Given the description of an element on the screen output the (x, y) to click on. 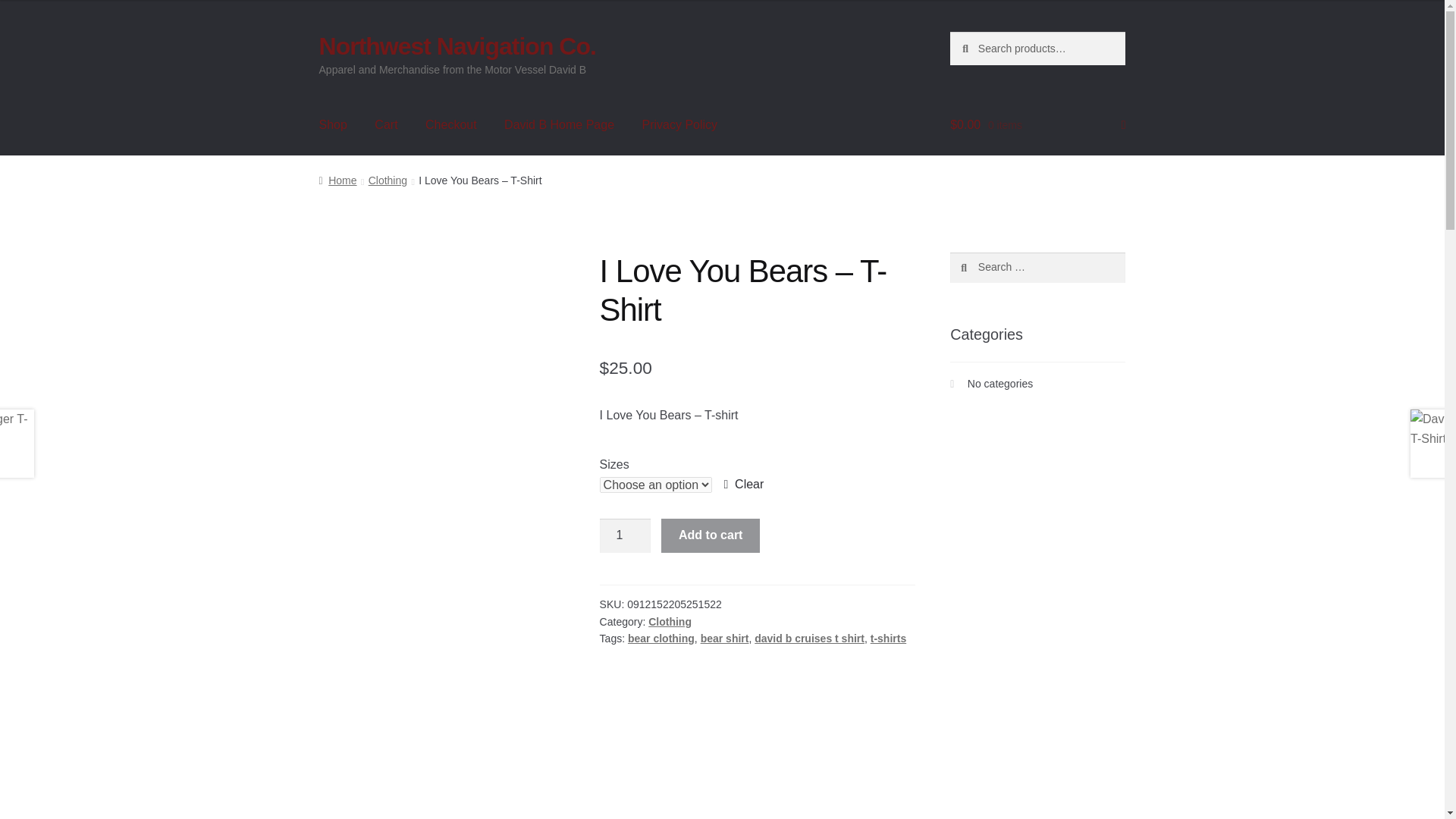
Home (337, 180)
t-shirts (887, 638)
Clothing (387, 180)
View your shopping cart (1037, 124)
bear shirt (724, 638)
1 (624, 535)
Northwest Navigation Co. (456, 45)
Add to cart (710, 535)
Clothing (669, 621)
Privacy Policy (678, 124)
